Given the description of an element on the screen output the (x, y) to click on. 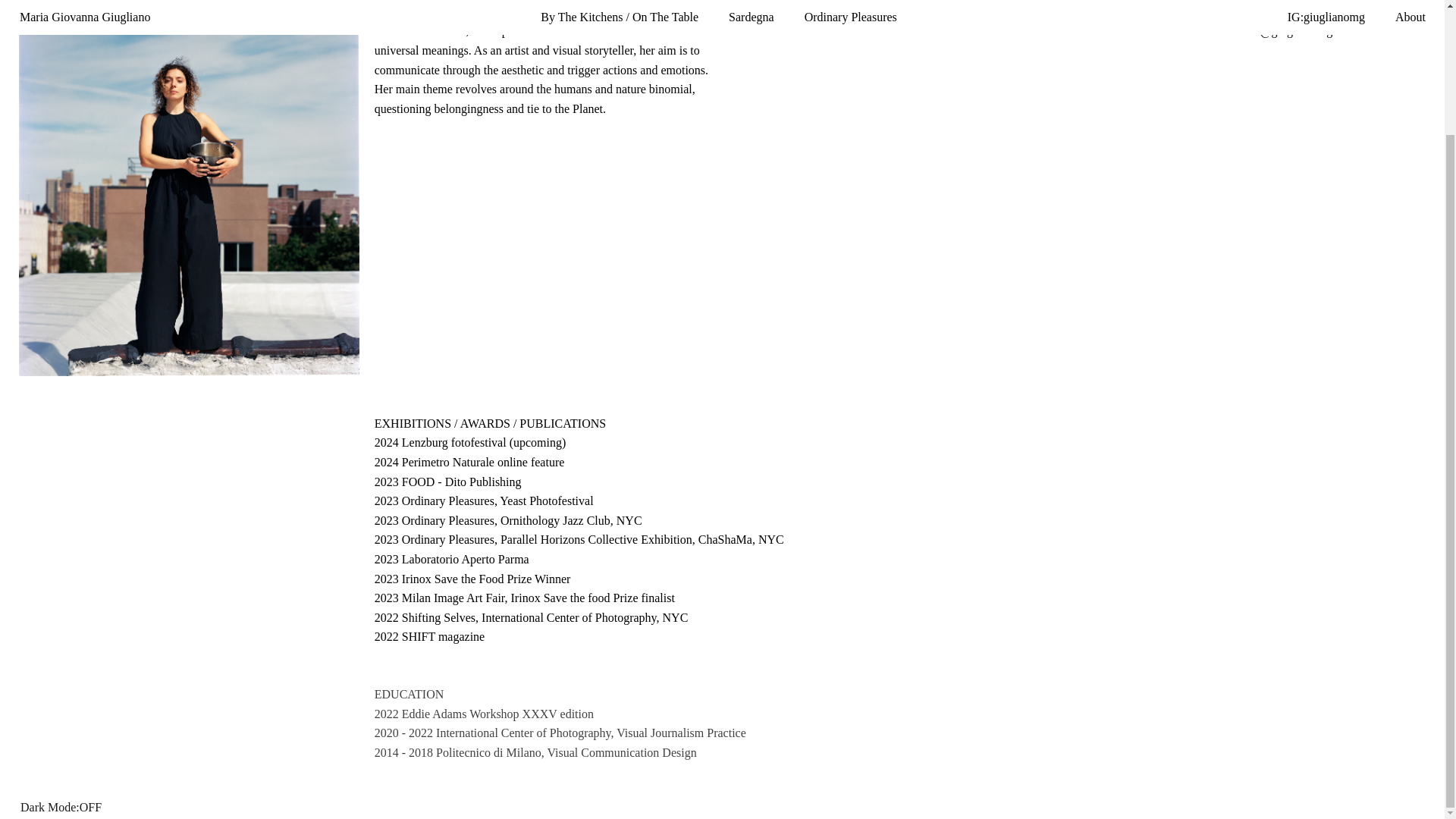
2023 Irinox Save the Food Prize Winner (472, 578)
2023 Ordinary Pleasures, Ornithology Jazz Club, NYC (508, 520)
2023 Ordinary Pleasures, Yeast Photofestival (484, 501)
2023 FOOD - Dito Publishing (447, 482)
2024 Perimetro Naturale online feature (469, 462)
2023 Laboratorio Aperto Parma (451, 559)
